Given the description of an element on the screen output the (x, y) to click on. 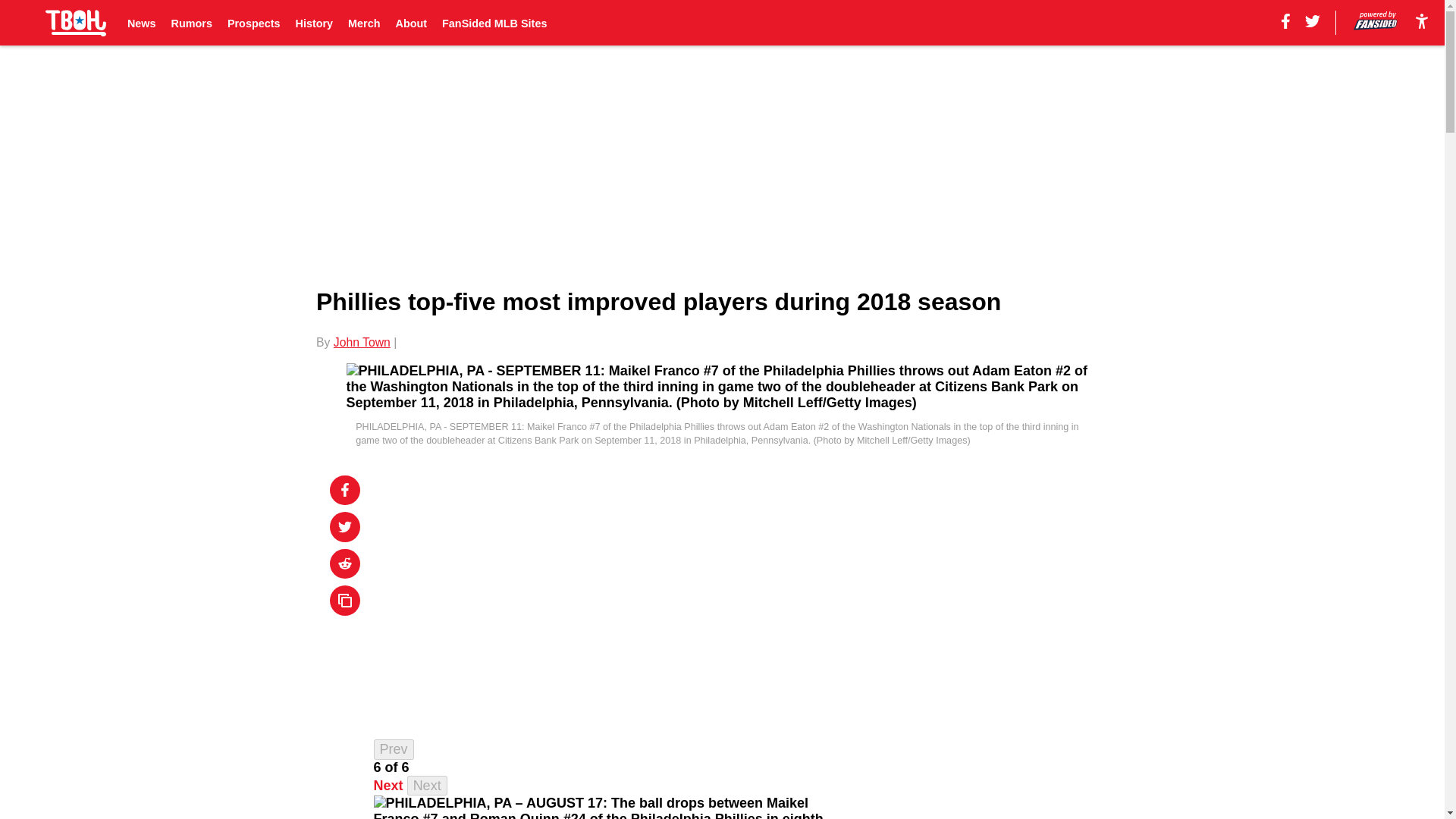
Rumors (191, 23)
Prev (393, 749)
Prospects (254, 23)
Next (426, 785)
News (141, 23)
Merch (363, 23)
History (314, 23)
John Town (361, 341)
Next (388, 785)
FanSided MLB Sites (494, 23)
